Given the description of an element on the screen output the (x, y) to click on. 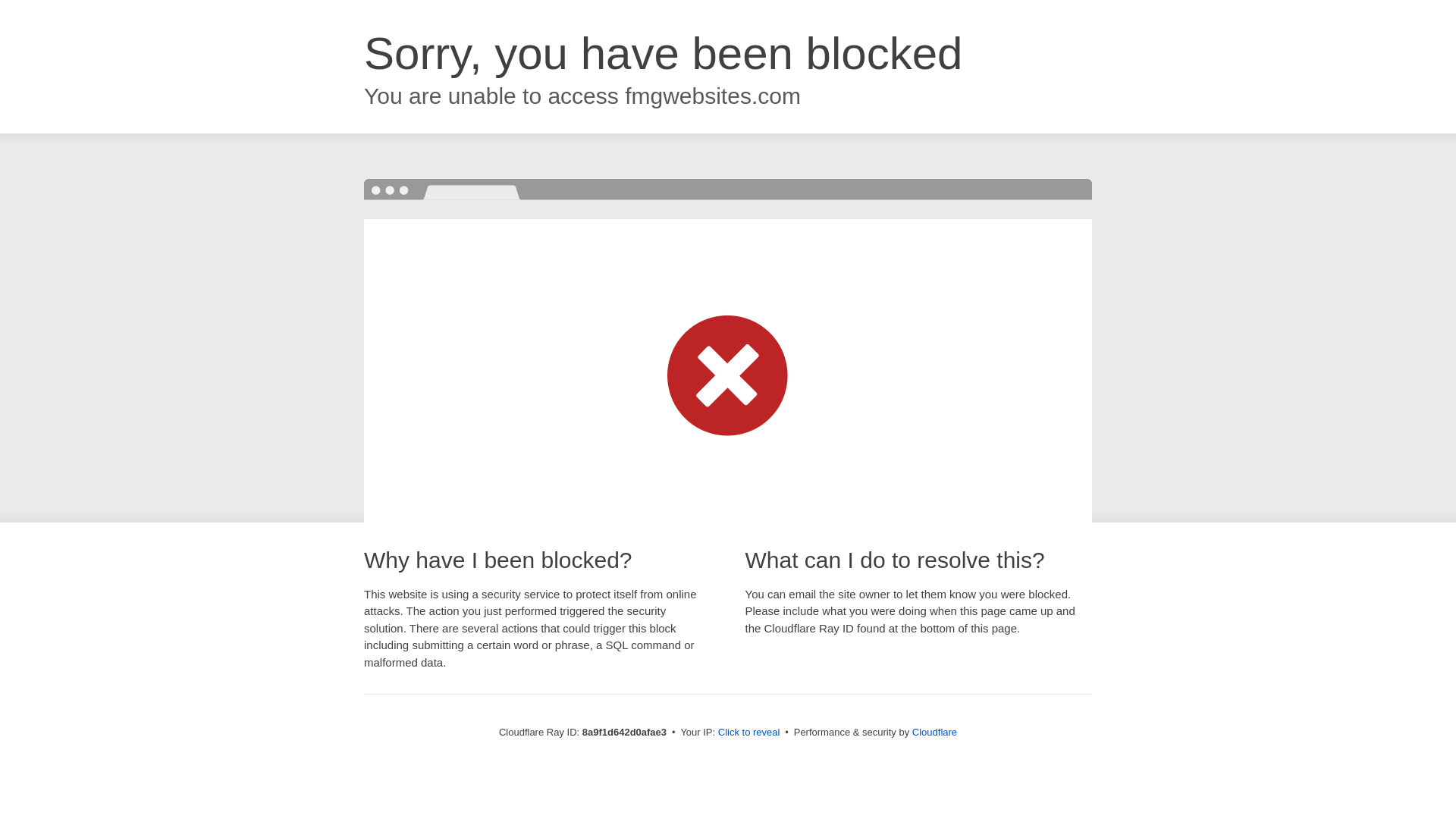
Click to reveal (748, 732)
Cloudflare (934, 731)
